Given the description of an element on the screen output the (x, y) to click on. 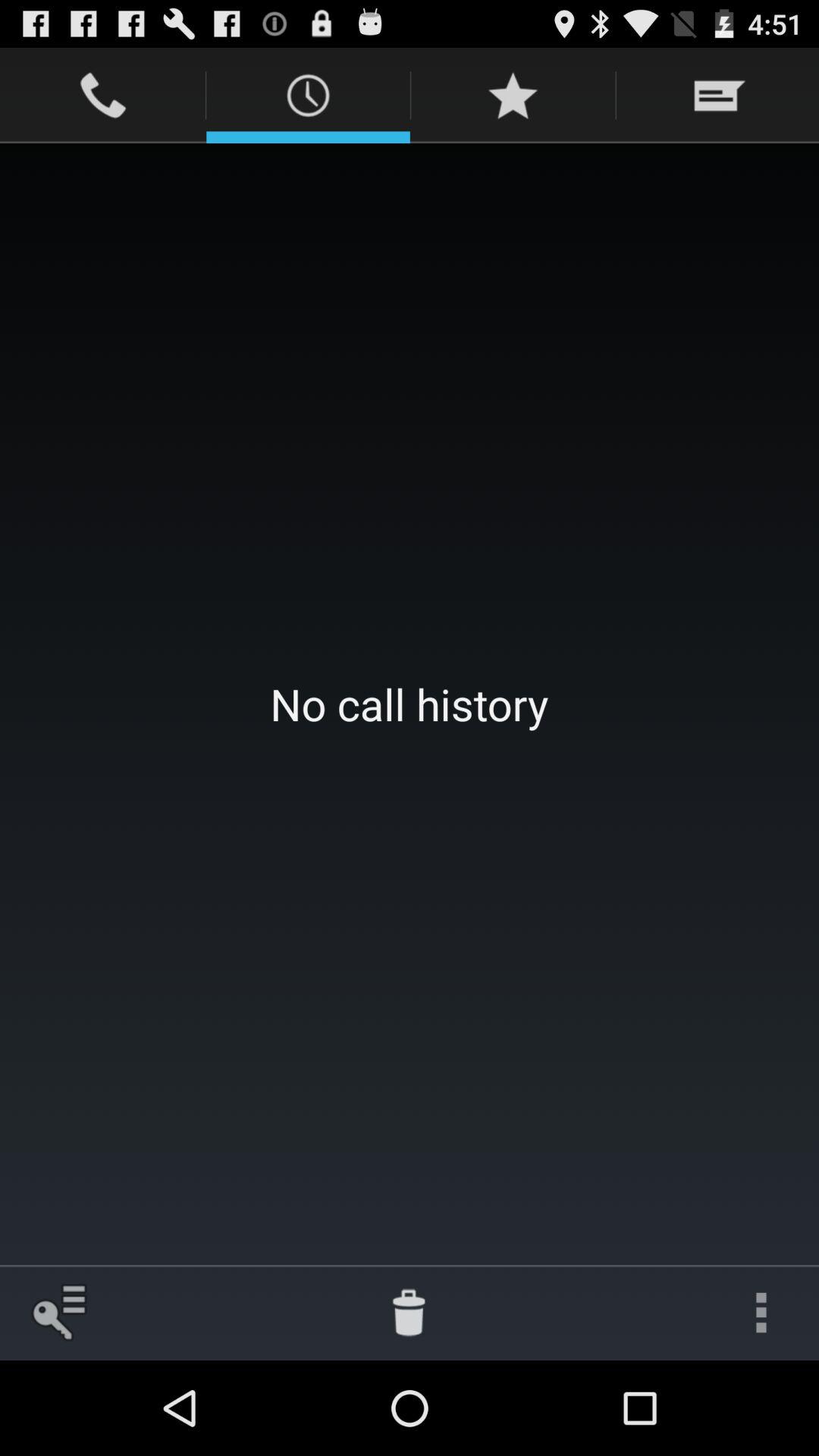
press item at the bottom (408, 1312)
